Given the description of an element on the screen output the (x, y) to click on. 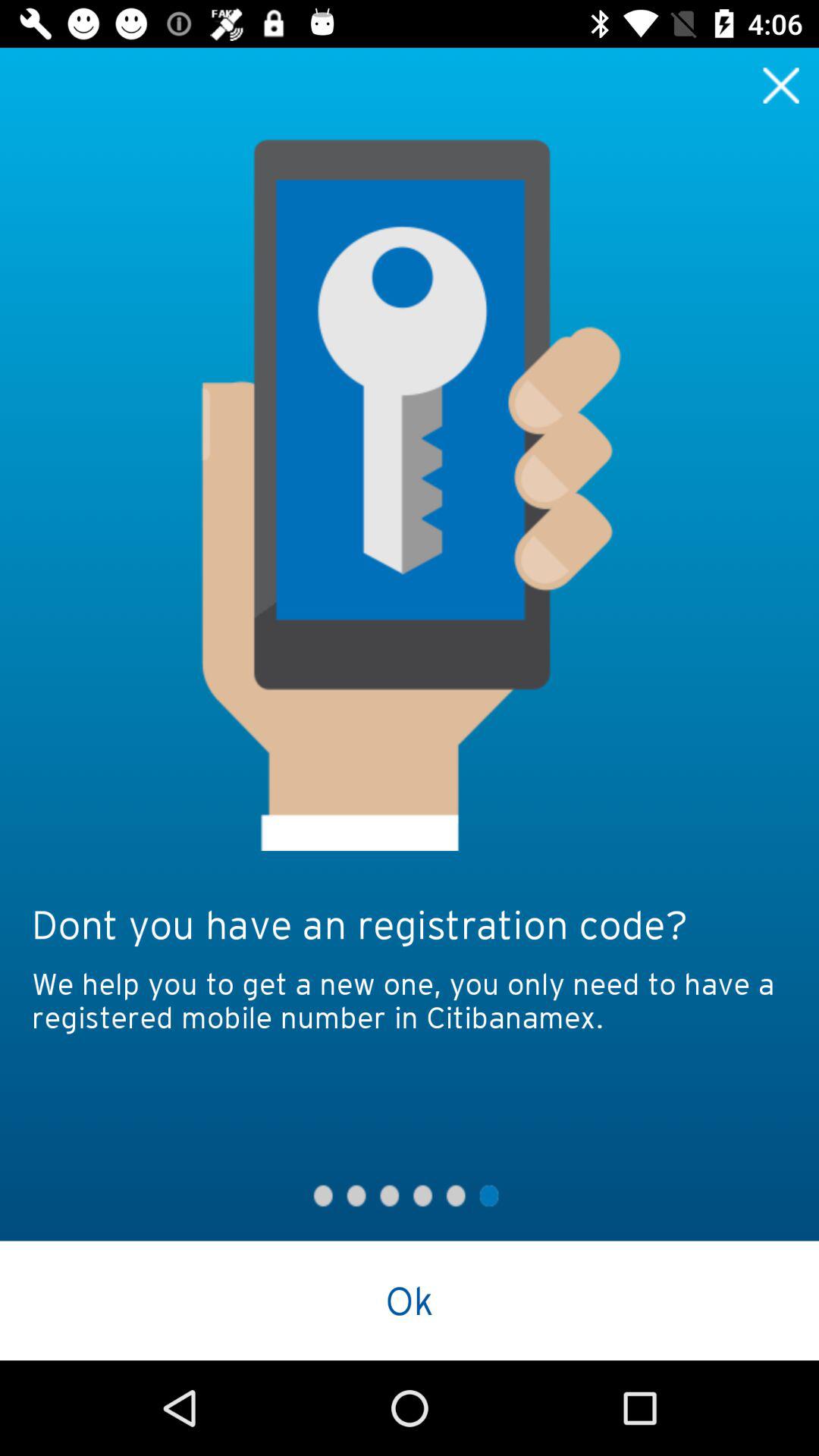
scroll until ok (409, 1300)
